Given the description of an element on the screen output the (x, y) to click on. 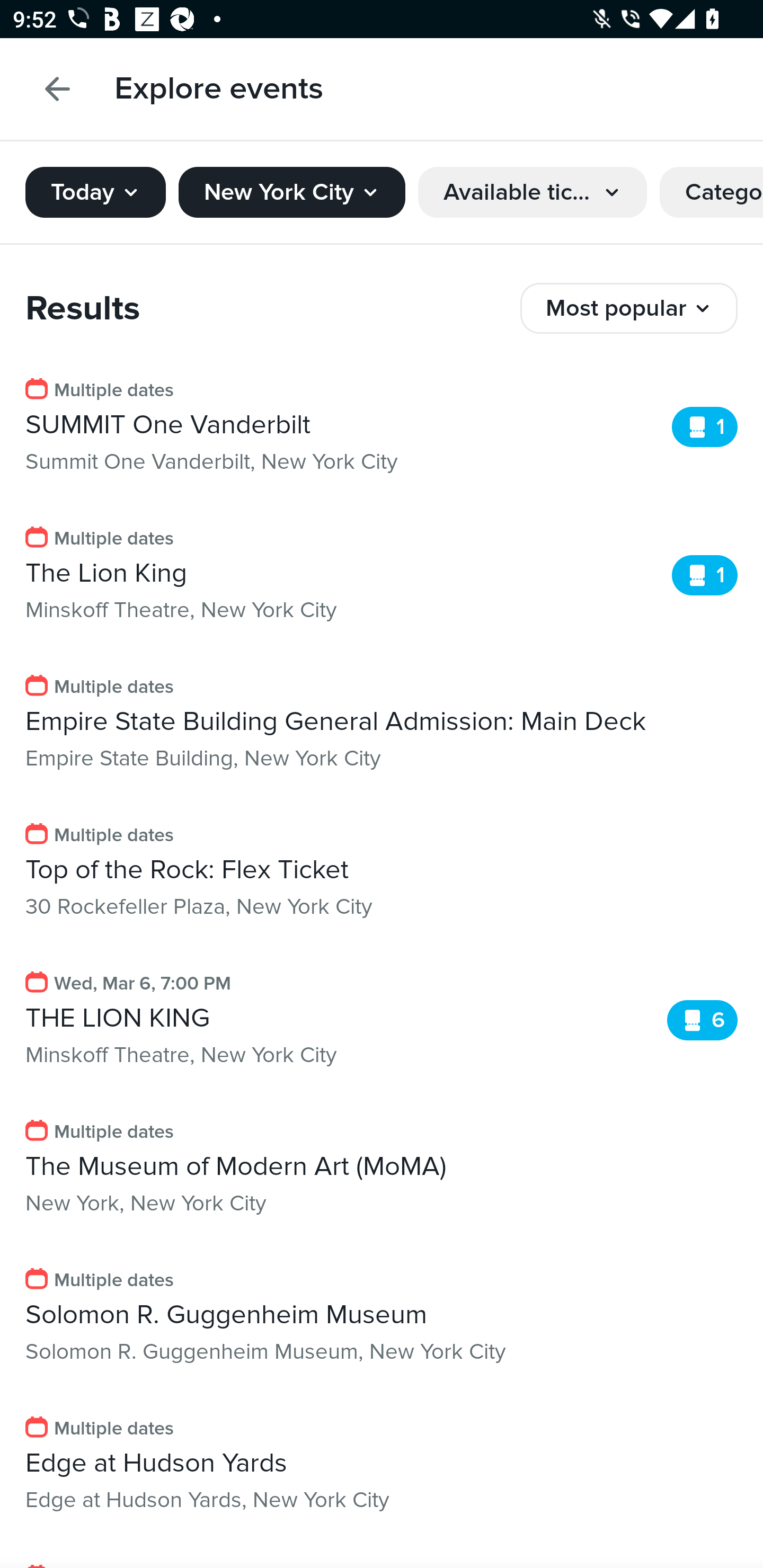
Today (95, 191)
New York City (291, 191)
Available tickets (532, 191)
Most popular (628, 307)
